Given the description of an element on the screen output the (x, y) to click on. 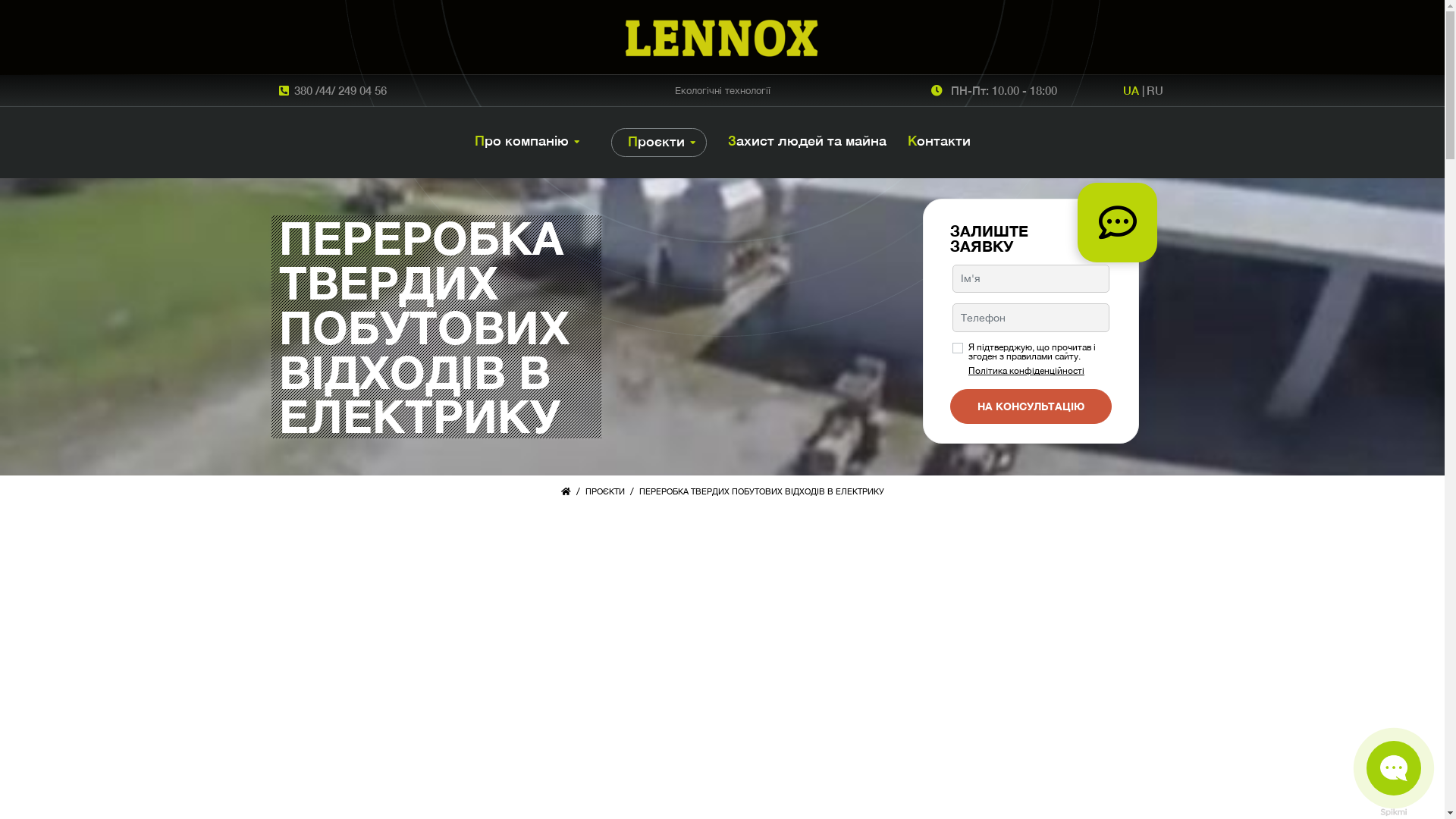
RU Element type: text (1154, 90)
380 /44/ 249 04 56 Element type: text (340, 90)
